Given the description of an element on the screen output the (x, y) to click on. 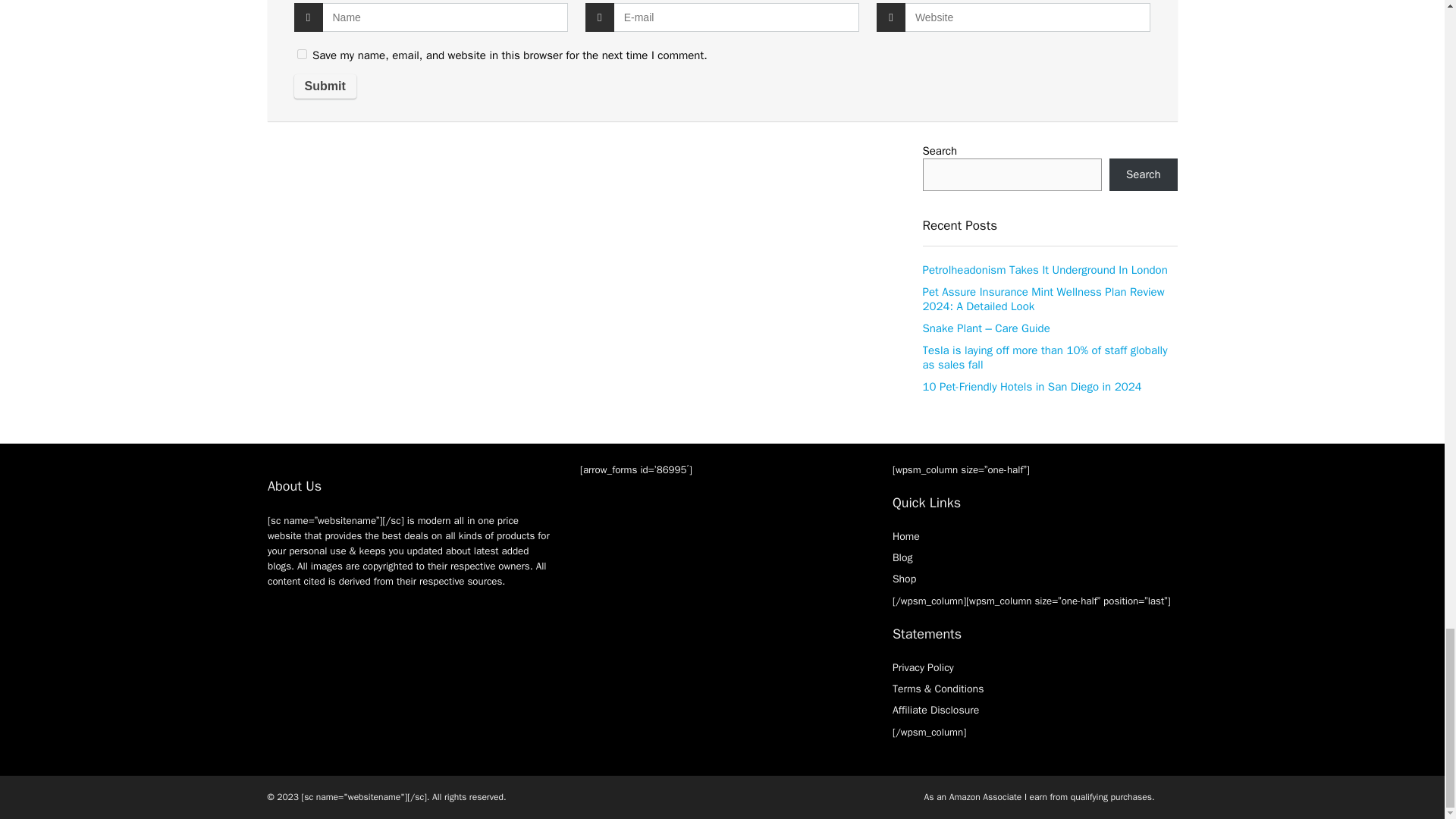
Blog (902, 557)
yes (302, 53)
Shop (903, 578)
Petrolheadonism Takes It Underground In London (1044, 269)
Search (1143, 174)
Submit (325, 86)
Home (906, 535)
10 Pet-Friendly Hotels in San Diego in 2024 (1031, 386)
Privacy Policy (922, 667)
